Given the description of an element on the screen output the (x, y) to click on. 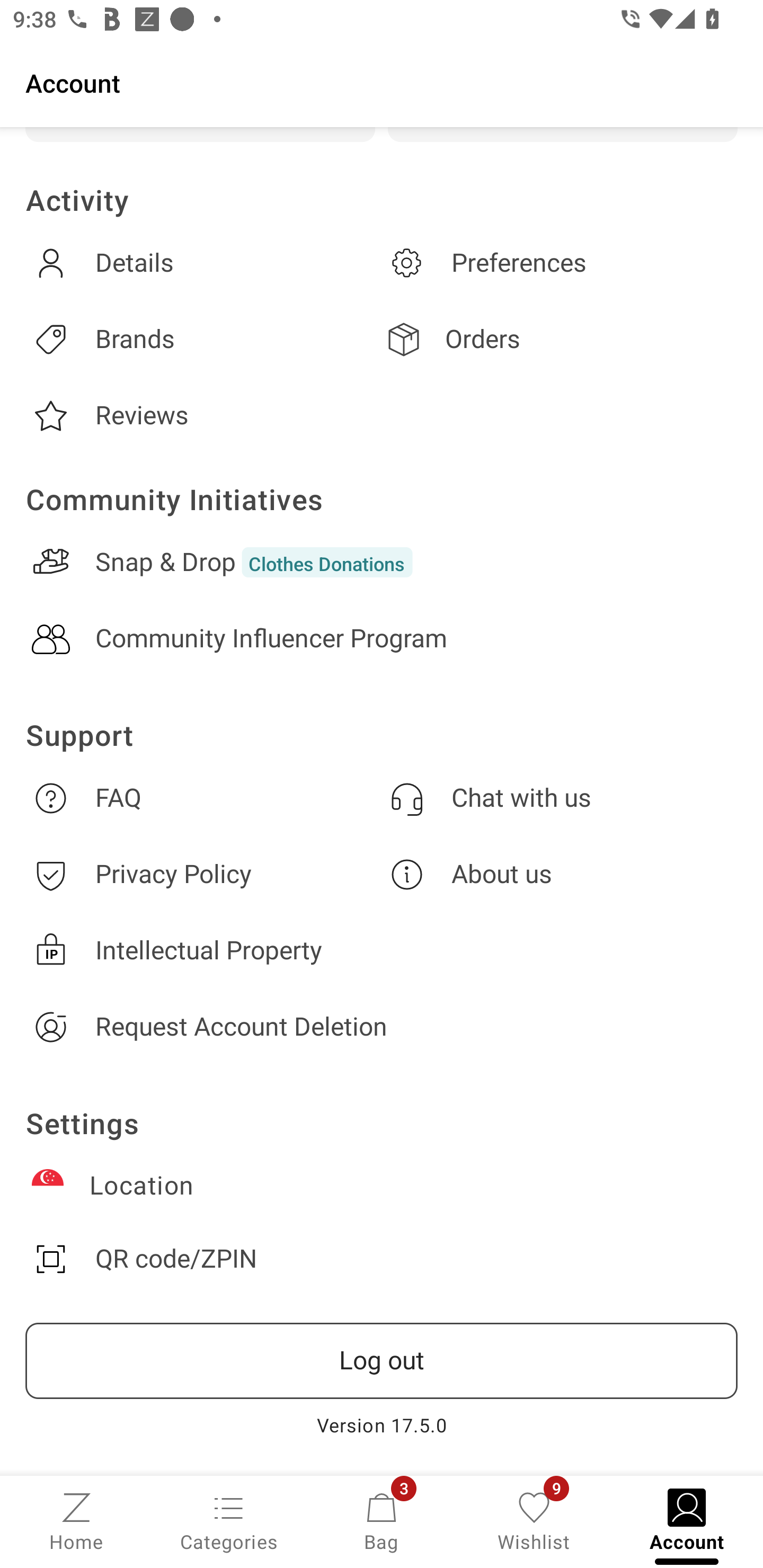
Account (381, 82)
Details (203, 263)
Preferences (559, 263)
Brands (203, 339)
Orders (559, 339)
Reviews (203, 415)
Snap & DropClothes Donations (381, 561)
Community Influencer Program (381, 638)
FAQ (203, 797)
Chat with us (559, 797)
Privacy Policy (203, 873)
About us (559, 873)
Intellectual Property (381, 950)
Request Account Deletion (381, 1026)
QR code/ZPIN (381, 1258)
Log out (381, 1360)
Home (76, 1519)
Categories (228, 1519)
Bag, 3 new notifications Bag (381, 1519)
Wishlist, 9 new notifications Wishlist (533, 1519)
